Given the description of an element on the screen output the (x, y) to click on. 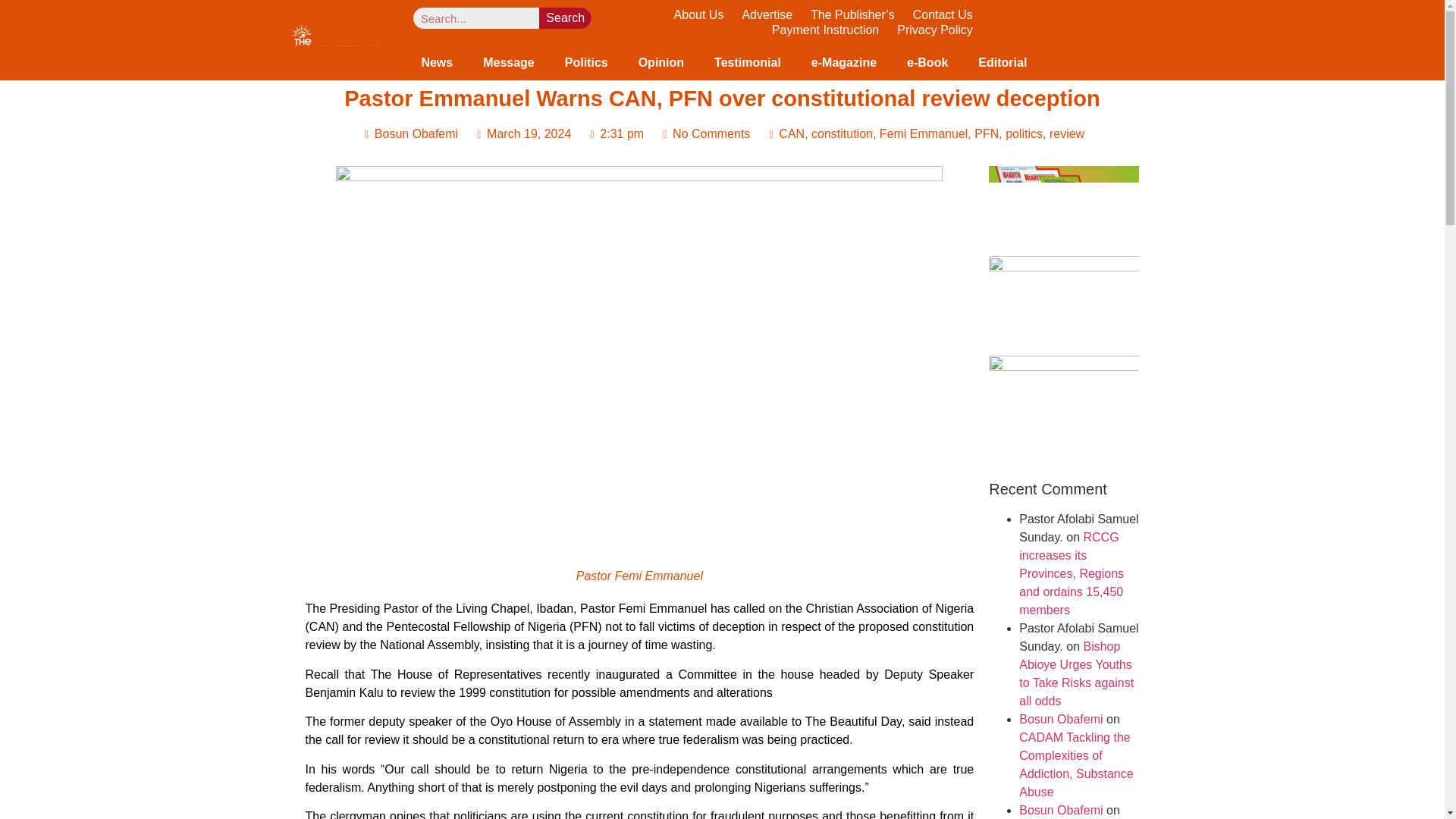
Politics (586, 62)
Message (508, 62)
Editorial (1002, 62)
News (436, 62)
Opinion (660, 62)
Payment Instruction (825, 29)
No Comments (703, 134)
e-Magazine (843, 62)
CAN (791, 133)
March 19, 2024 (520, 134)
